Given the description of an element on the screen output the (x, y) to click on. 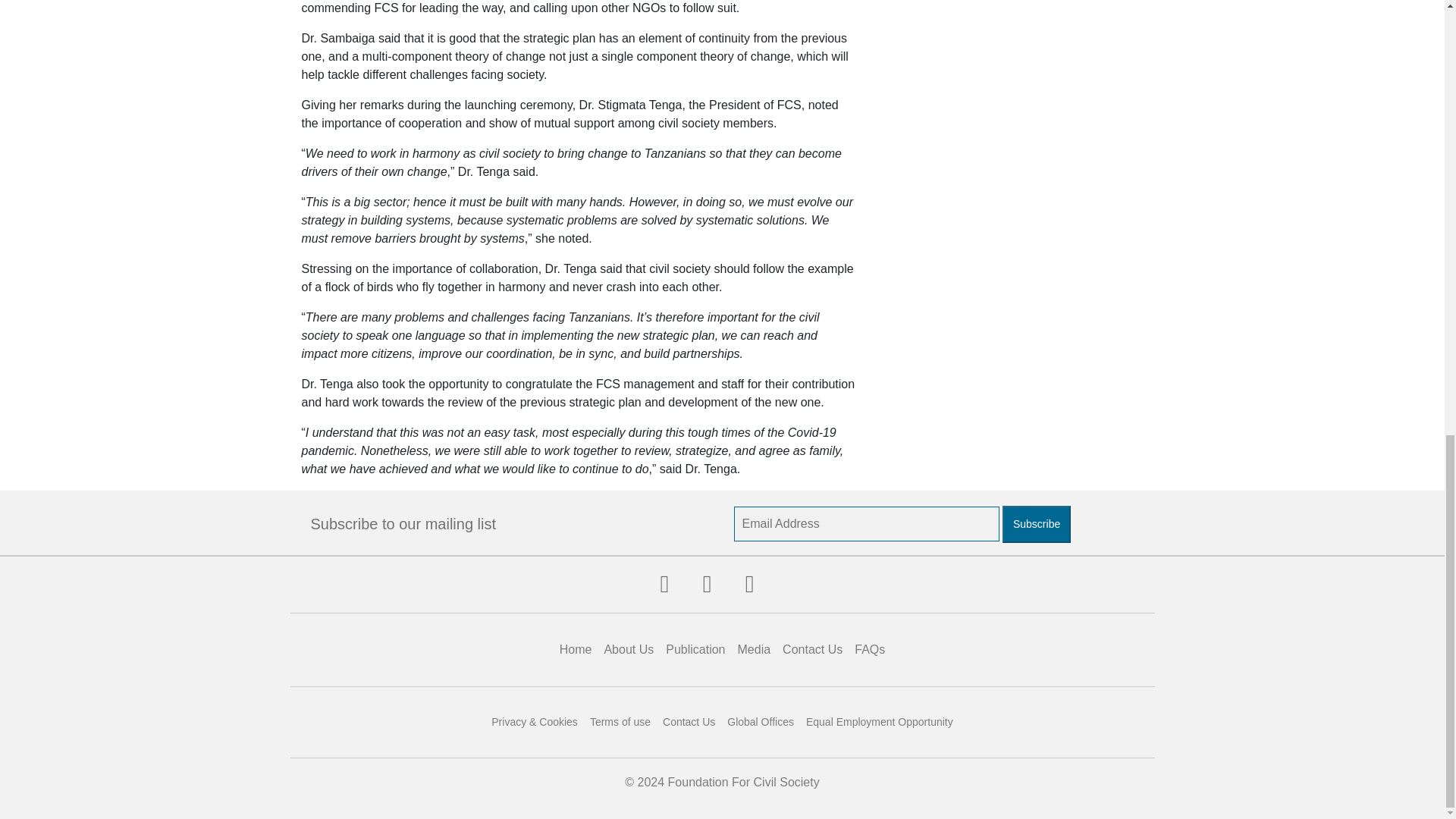
FAQs (869, 649)
Home (575, 649)
Contact Us (688, 722)
About Us (627, 649)
Equal Employment Opportunity (879, 722)
Media (754, 649)
Home (575, 649)
Contact Us (812, 649)
Global Offices (759, 722)
About Us (627, 649)
